Given the description of an element on the screen output the (x, y) to click on. 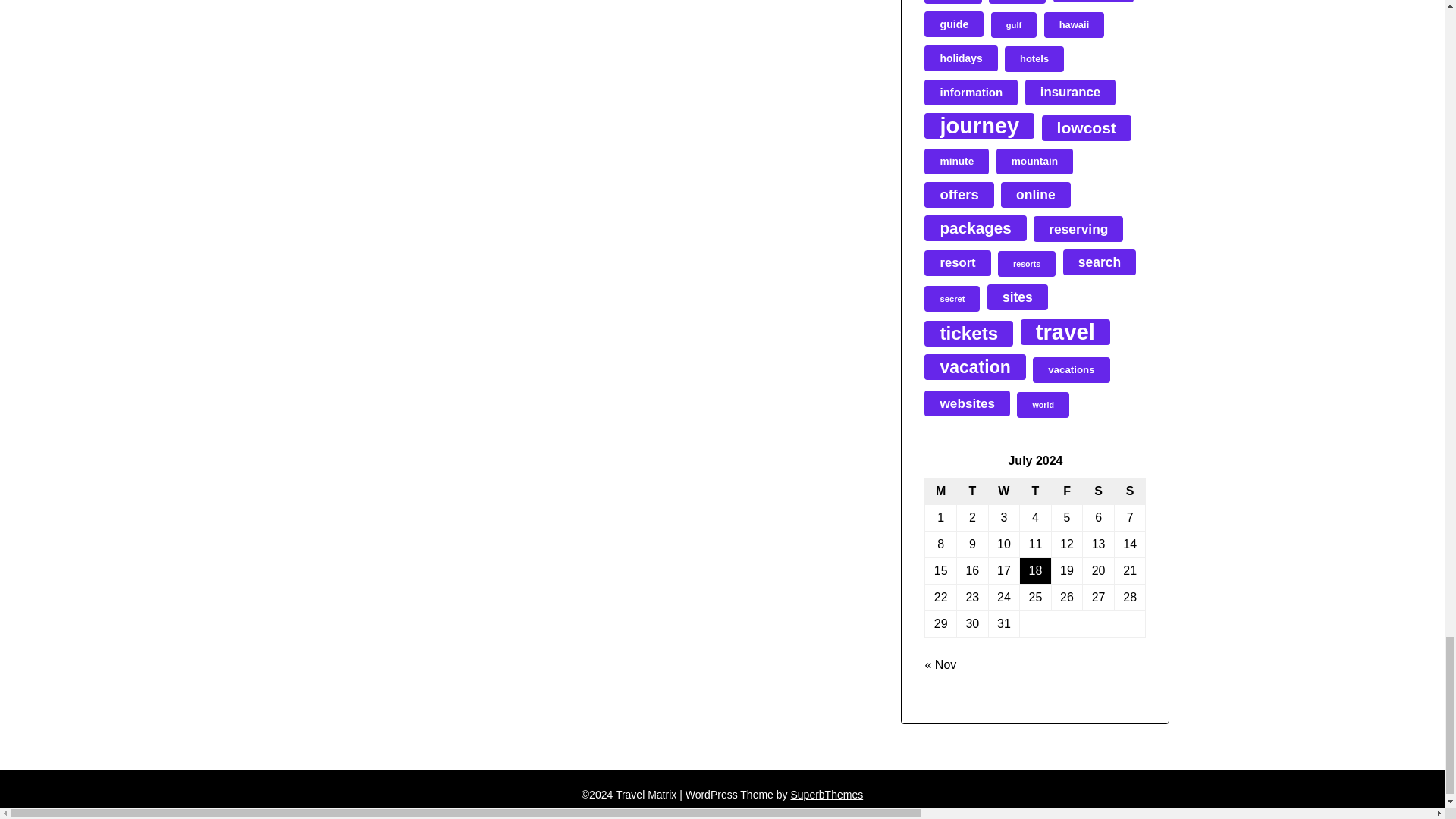
Monday (940, 490)
Tuesday (972, 490)
Sunday (1129, 490)
Saturday (1099, 490)
Thursday (1035, 490)
Wednesday (1004, 490)
Friday (1067, 490)
